Given the description of an element on the screen output the (x, y) to click on. 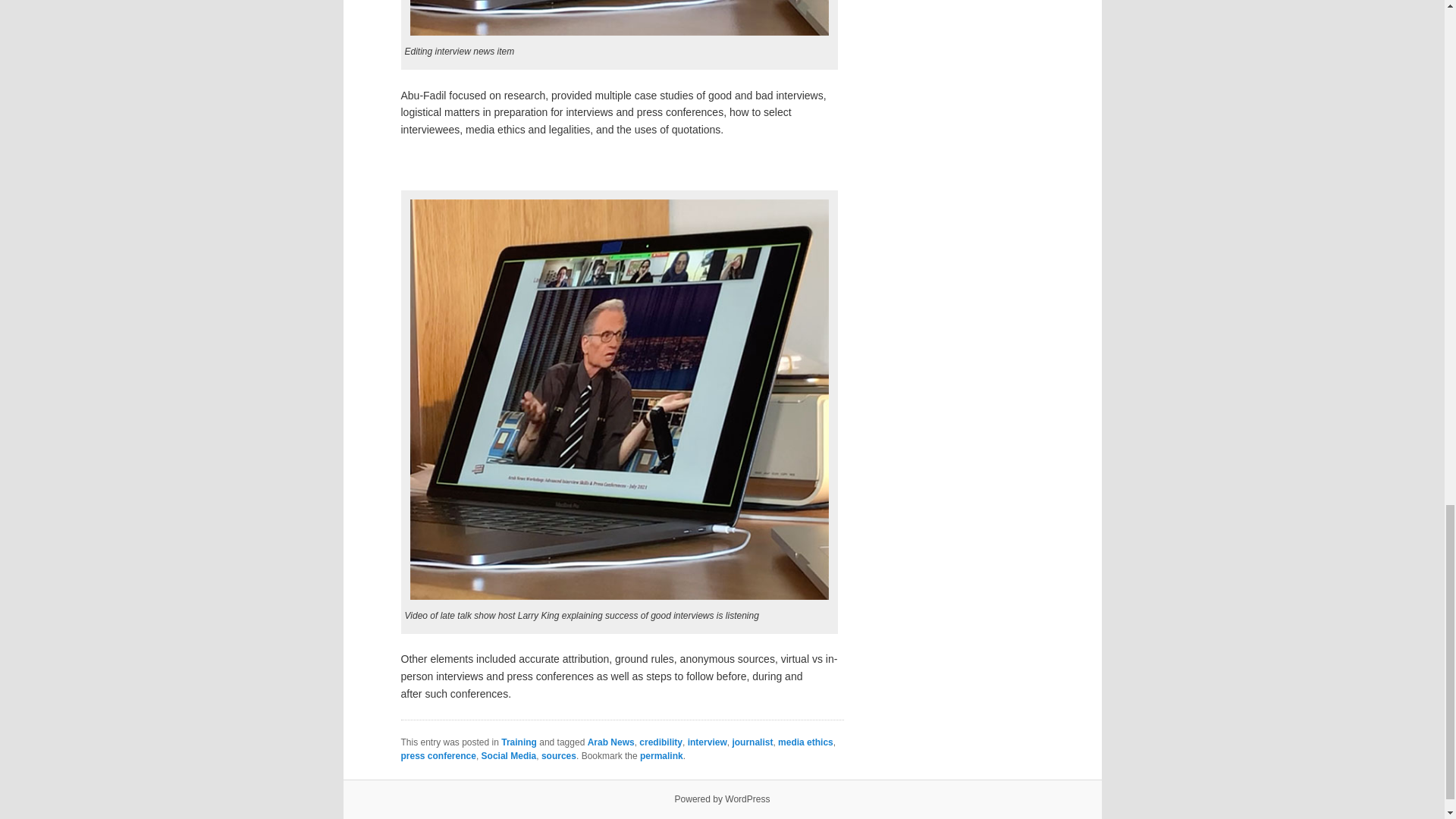
Powered by WordPress (722, 798)
Training (518, 742)
Social Media (509, 756)
Semantic Personal Publishing Platform (722, 798)
permalink (661, 756)
credibility (660, 742)
sources (558, 756)
media ethics (804, 742)
interview (706, 742)
press conference (438, 756)
Arab News (611, 742)
journalist (752, 742)
